Given the description of an element on the screen output the (x, y) to click on. 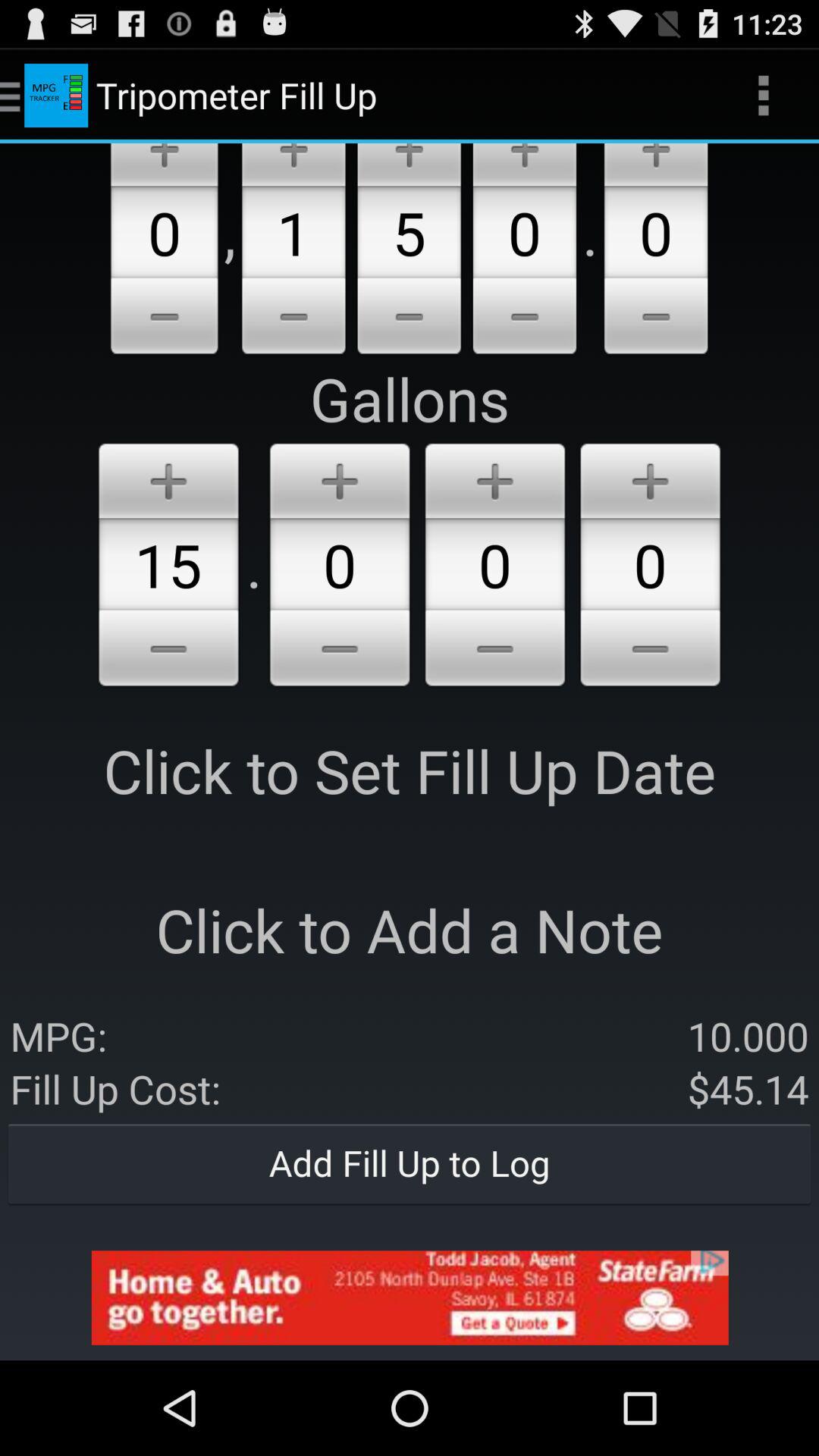
select time (339, 651)
